Given the description of an element on the screen output the (x, y) to click on. 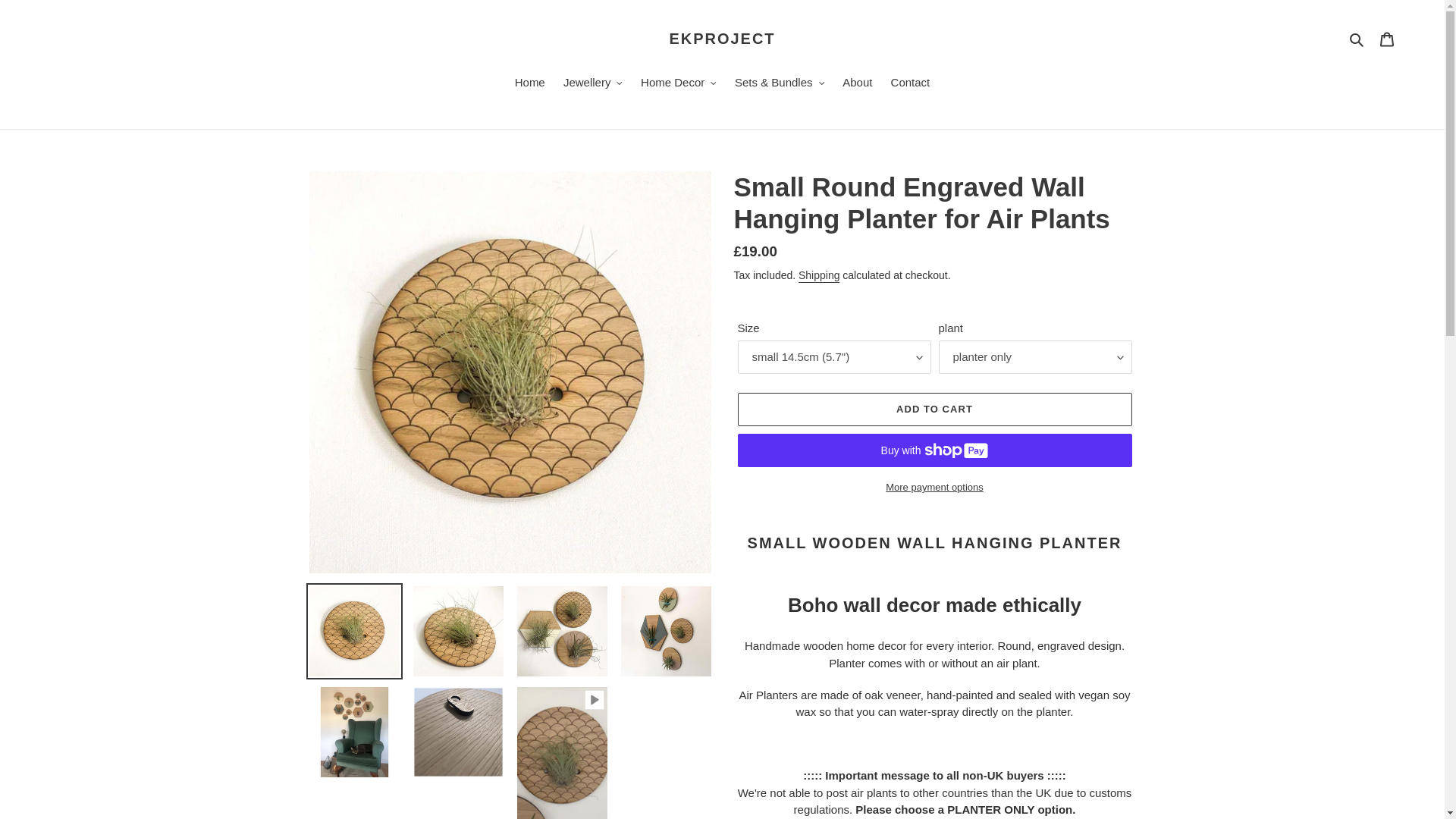
Jewellery (593, 84)
Search (1357, 38)
Cart (1387, 38)
Home (529, 84)
About (856, 84)
Home Decor (678, 84)
EKPROJECT (721, 38)
Contact (910, 84)
